Given the description of an element on the screen output the (x, y) to click on. 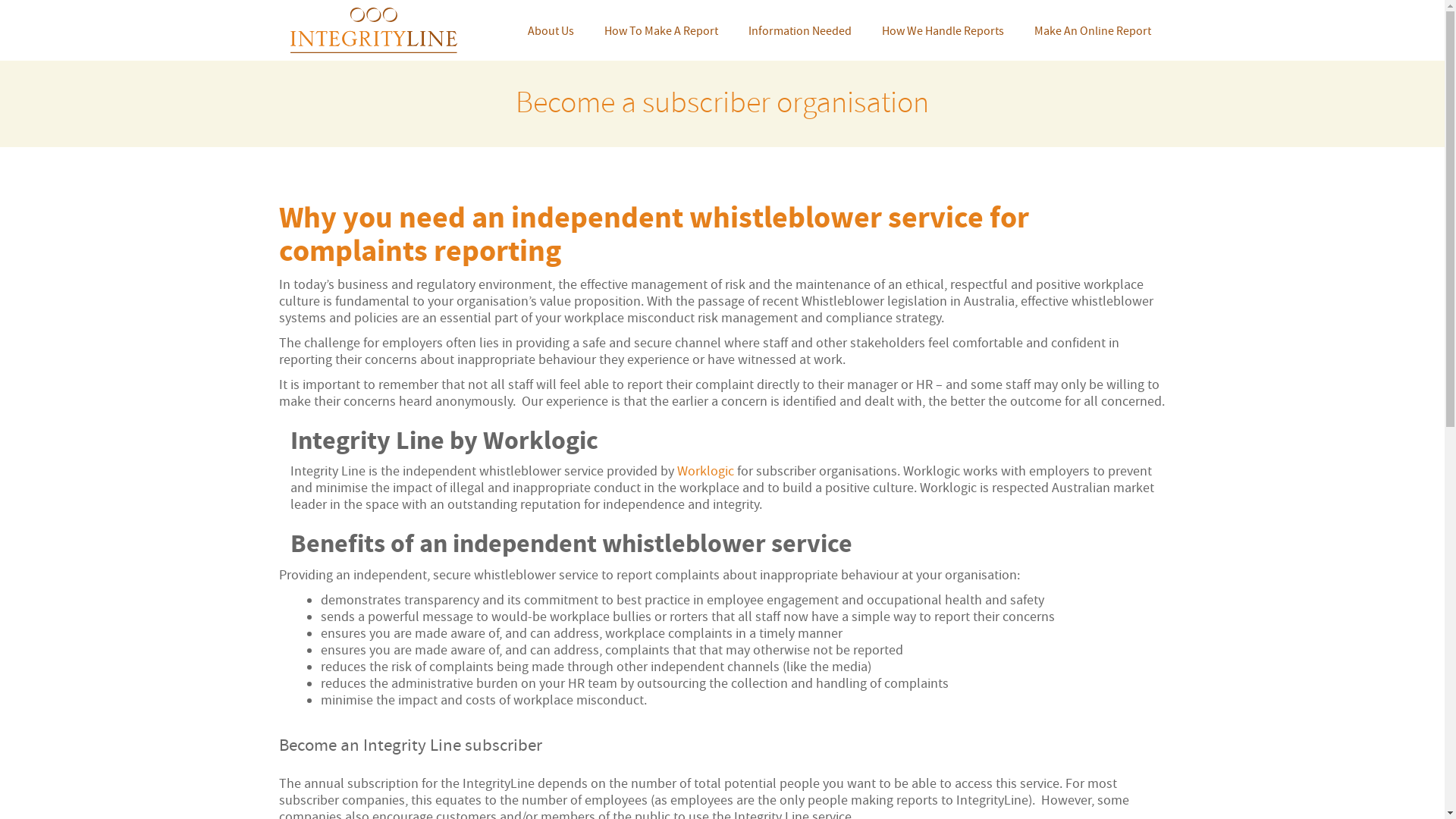
Information Needed Element type: text (799, 30)
Worklogic Element type: text (704, 471)
About Us Element type: text (550, 30)
Make An Online Report Element type: text (1092, 30)
How To Make A Report Element type: text (660, 30)
How We Handle Reports Element type: text (942, 30)
